Given the description of an element on the screen output the (x, y) to click on. 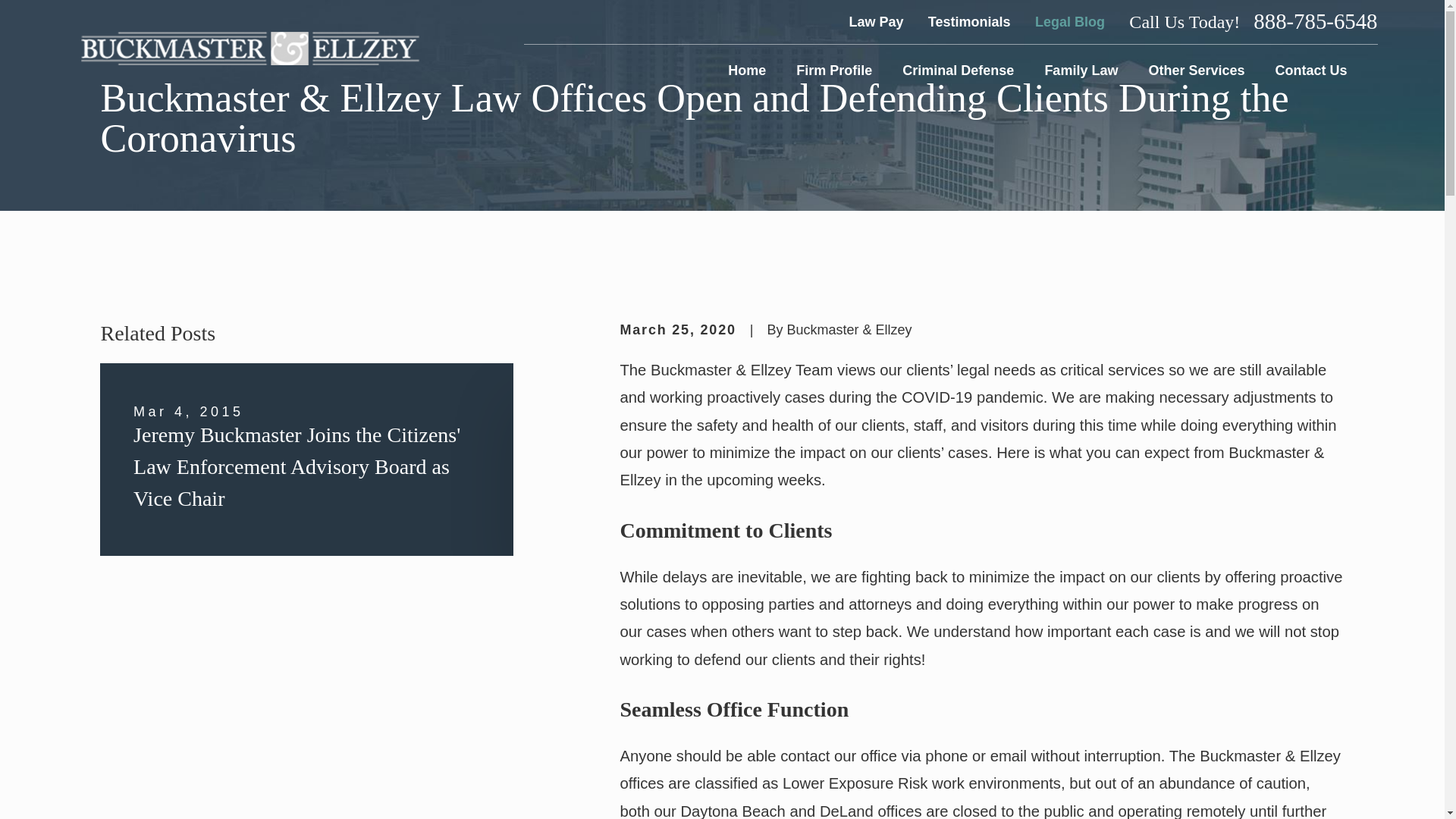
Firm Profile (834, 70)
888-785-6548 (1315, 21)
Home (249, 48)
Criminal Defense (957, 70)
Home (746, 70)
Legal Blog (1070, 21)
Testimonials (969, 21)
Law Pay (875, 21)
